Given the description of an element on the screen output the (x, y) to click on. 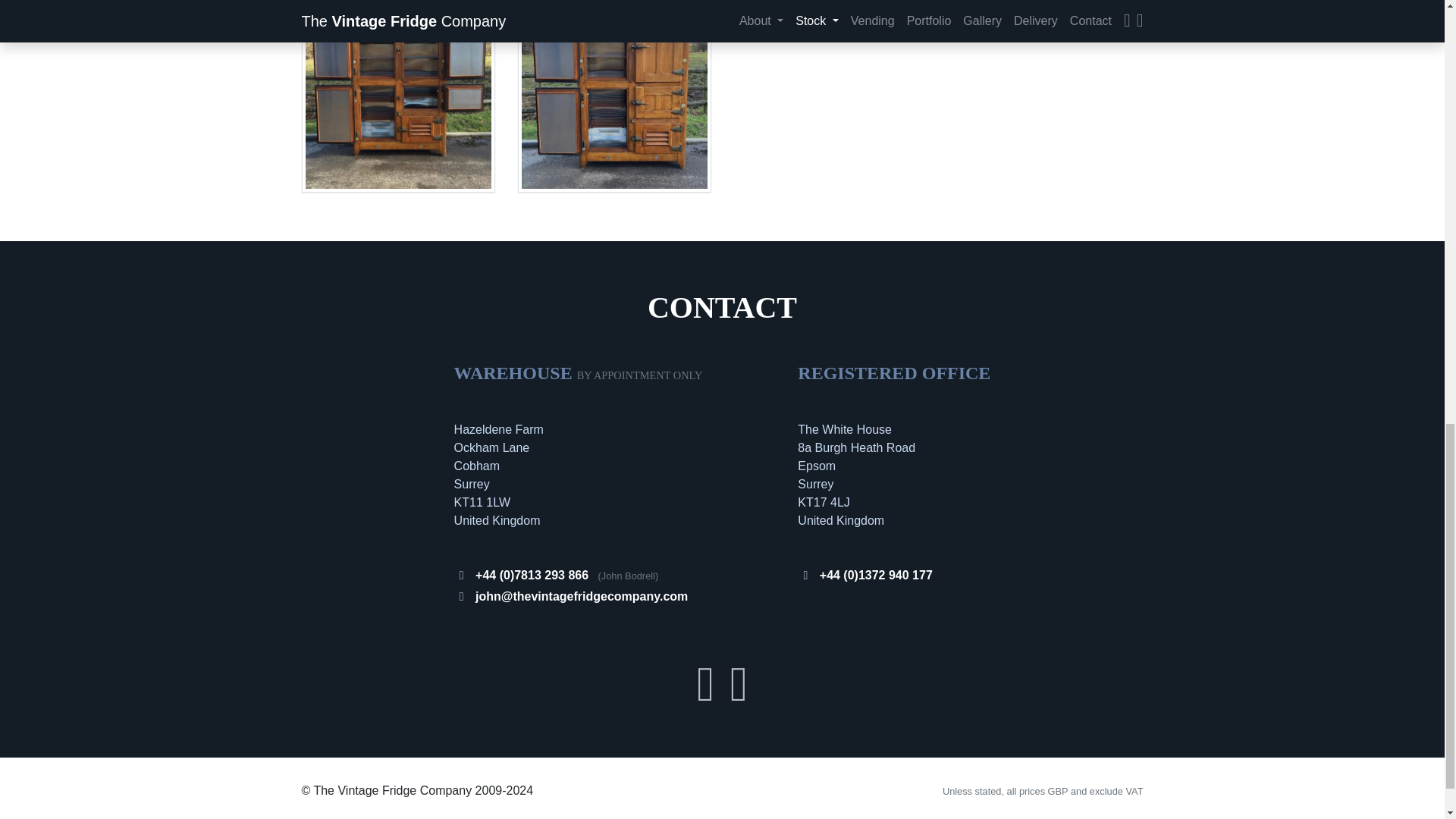
Find us on Facebook (705, 696)
Find us on Instagram (739, 696)
